Given the description of an element on the screen output the (x, y) to click on. 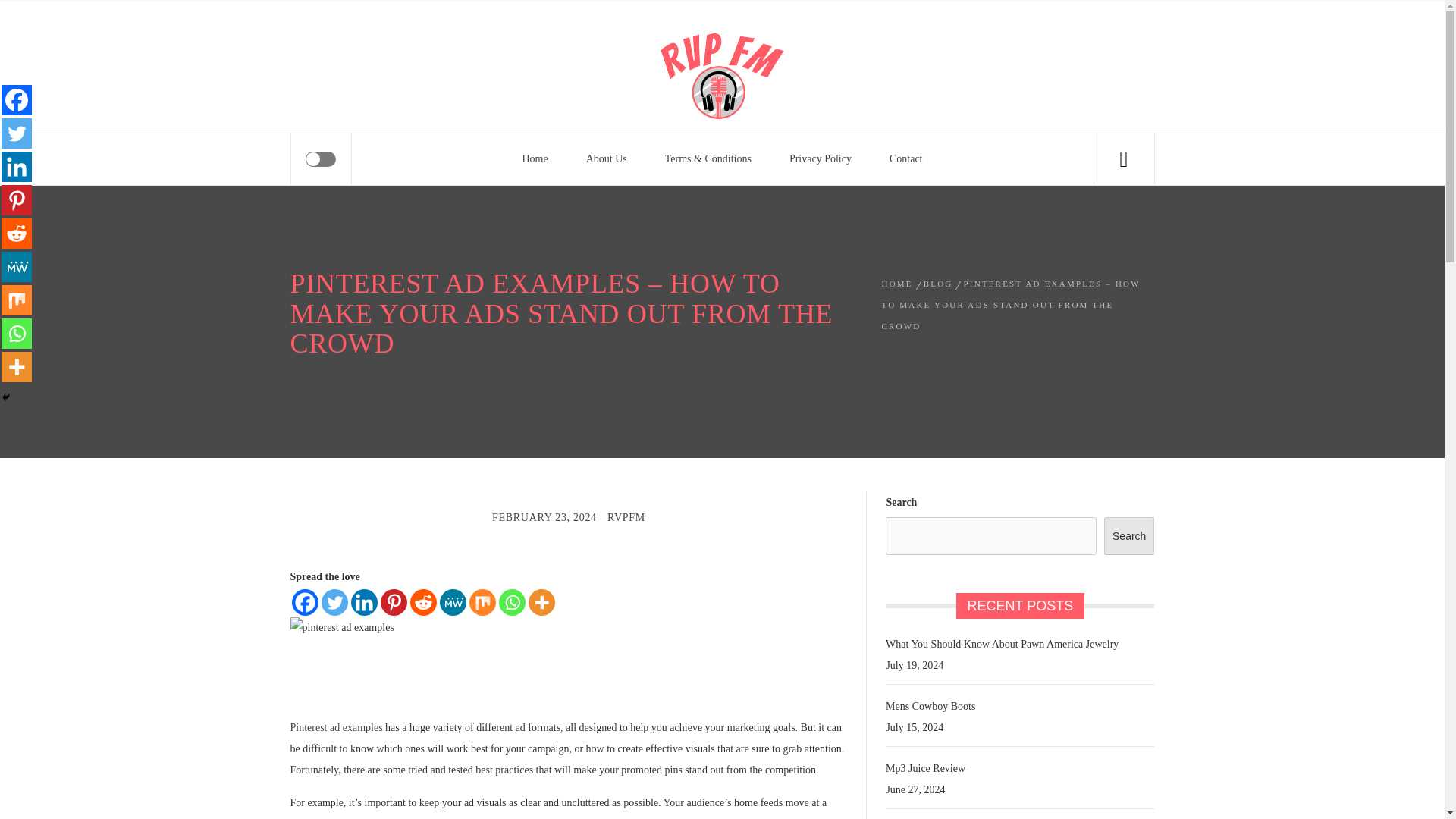
Facebook (304, 601)
Linkedin (363, 601)
Contact (906, 159)
Privacy Policy (820, 159)
More (540, 601)
About Us (606, 159)
Pinterest (393, 601)
Home (534, 159)
BLOG (938, 283)
Search (797, 41)
Facebook (16, 100)
Mix (481, 601)
Rvp FM (378, 51)
FEBRUARY 23, 2024 (544, 517)
Linkedin (16, 166)
